Given the description of an element on the screen output the (x, y) to click on. 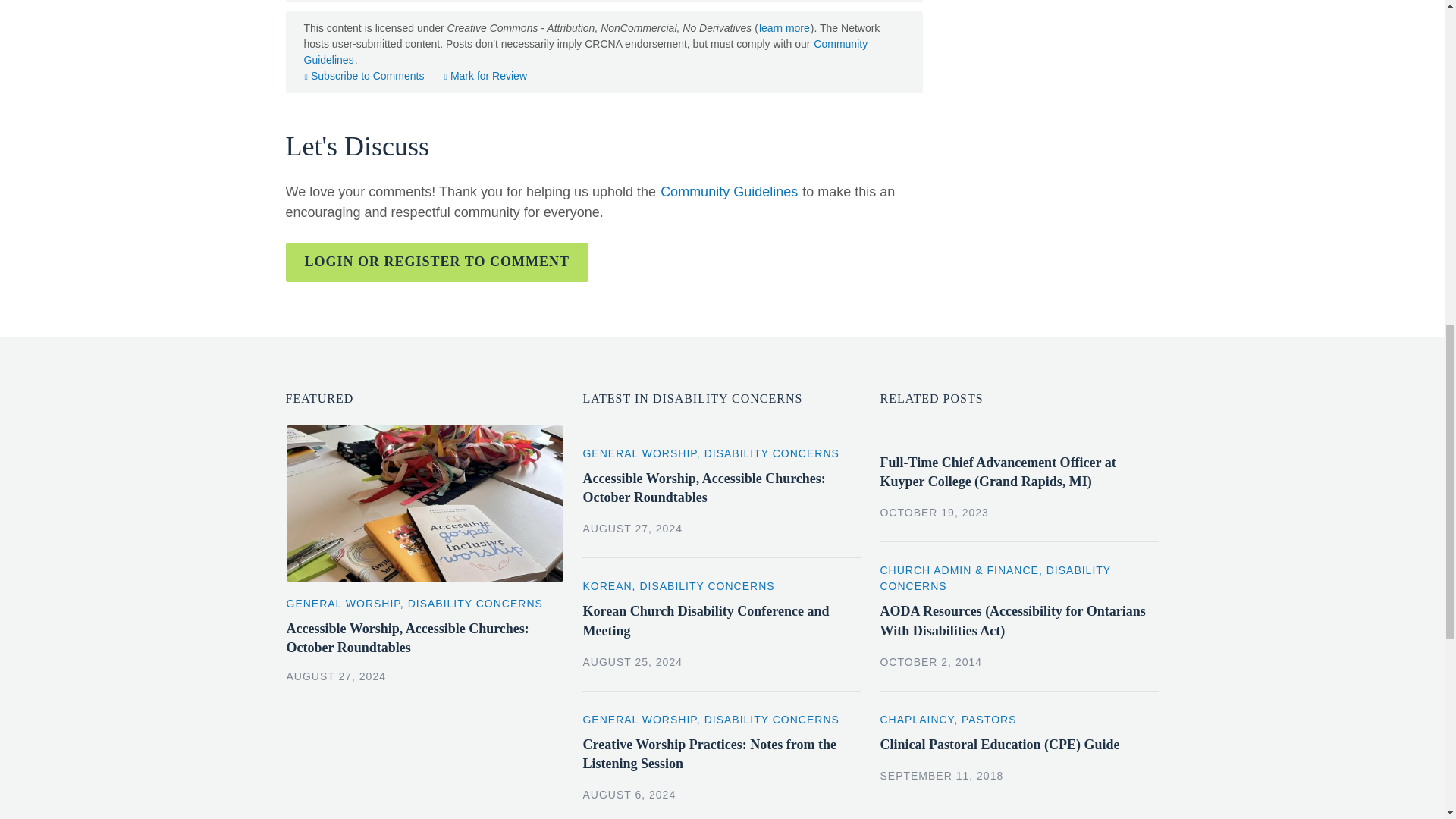
Subscribe to Comments (363, 75)
LOGIN OR REGISTER TO COMMENT (436, 261)
Mark for Review (484, 75)
Community Guidelines (728, 191)
Community Guidelines (584, 51)
learn more (784, 28)
